Given the description of an element on the screen output the (x, y) to click on. 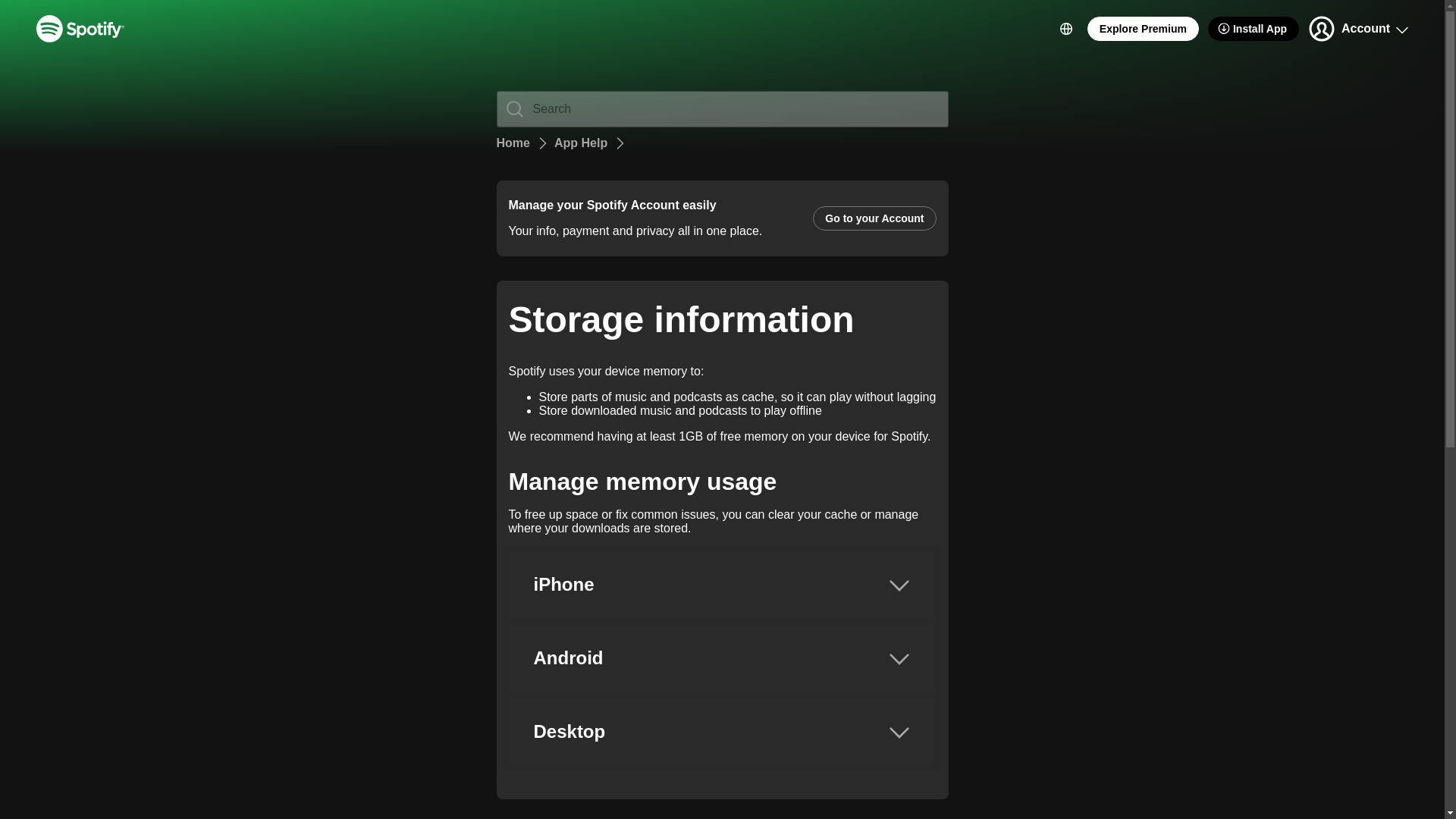
Go to your Account (874, 218)
Spotify Support Site (79, 28)
Home (512, 142)
Desktop (722, 731)
App Help (580, 142)
Account (1357, 28)
Explore Premium (1142, 28)
Install App (1253, 28)
Android (722, 657)
iPhone (722, 583)
